Given the description of an element on the screen output the (x, y) to click on. 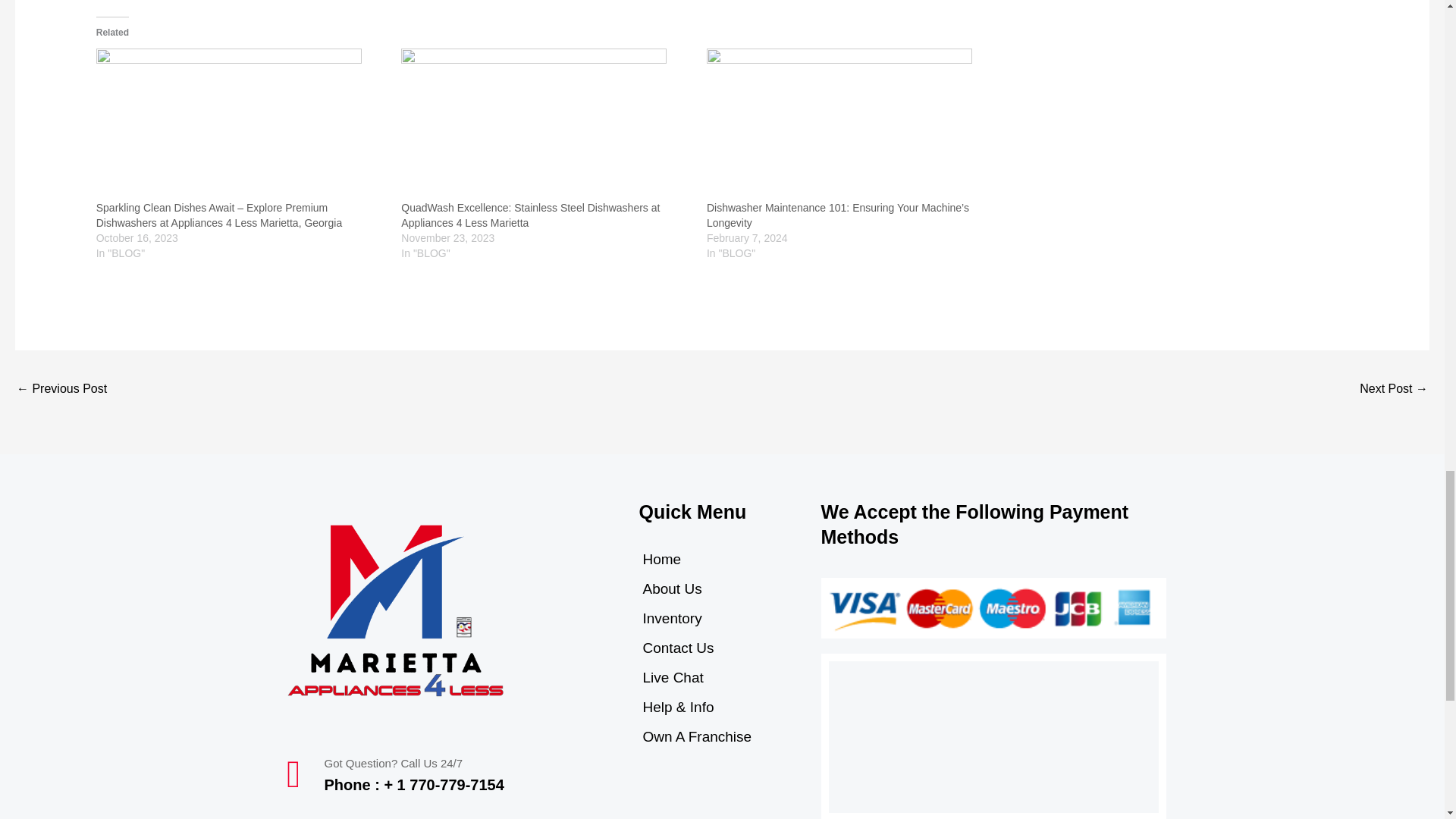
Appliances 4 Less Marietta (993, 736)
